Given the description of an element on the screen output the (x, y) to click on. 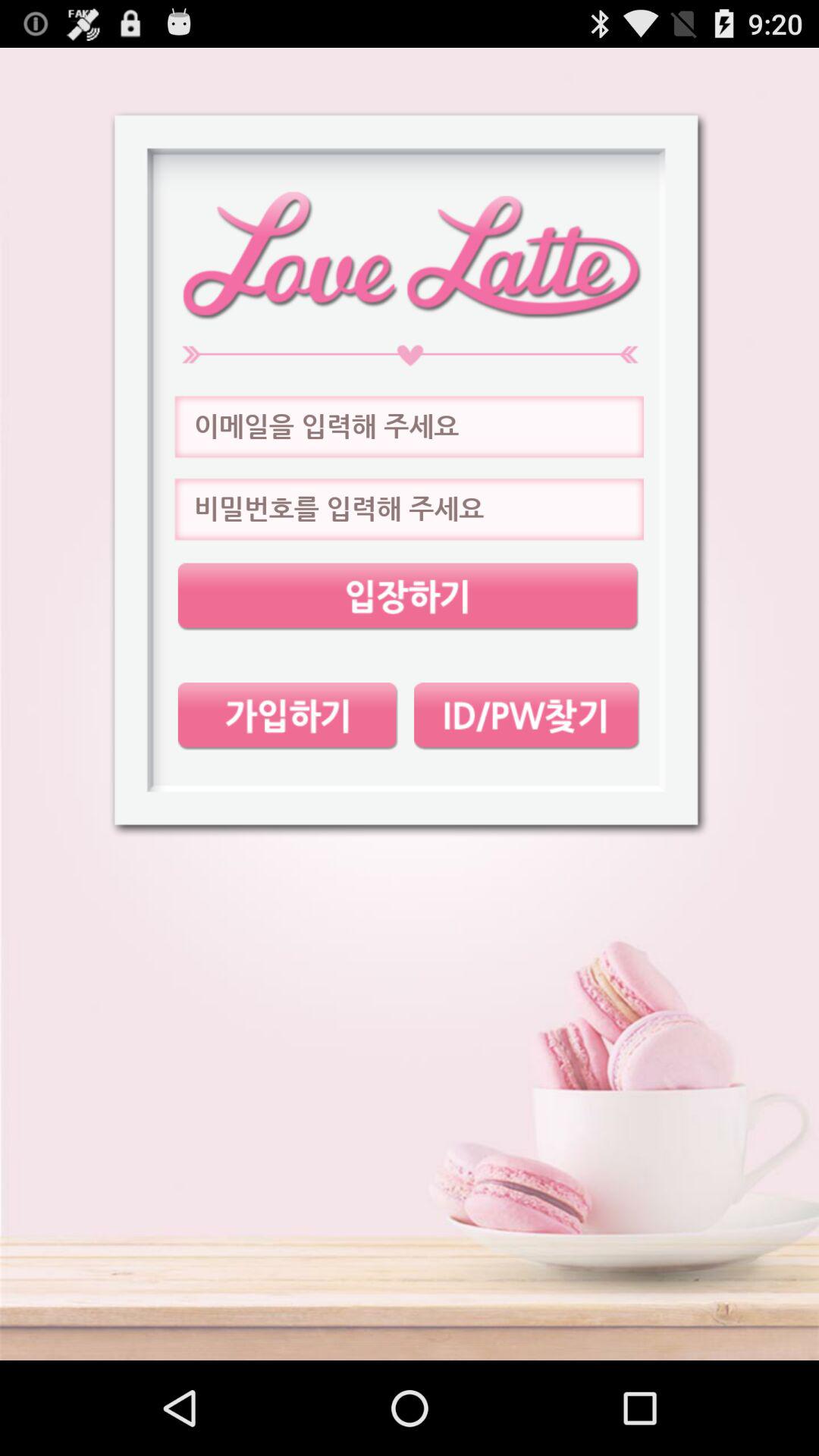
enter username (408, 426)
